Given the description of an element on the screen output the (x, y) to click on. 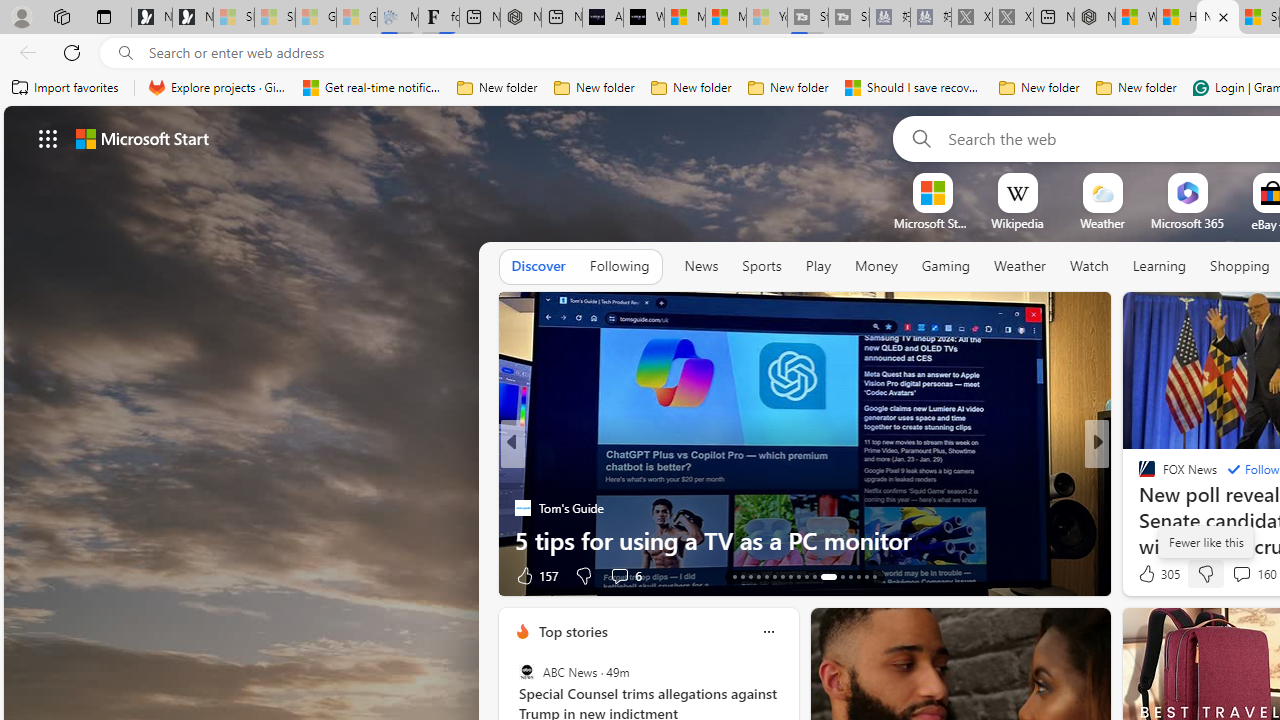
Play (818, 267)
Class: icon-img (768, 632)
Top stories (572, 631)
AutomationID: tab-41 (857, 576)
X - Sleeping (1012, 17)
News (701, 267)
Play (817, 265)
Search icon (125, 53)
Start the conversation (1234, 575)
AutomationID: tab-40 (850, 576)
View comments 1k Comment (1236, 574)
